Given the description of an element on the screen output the (x, y) to click on. 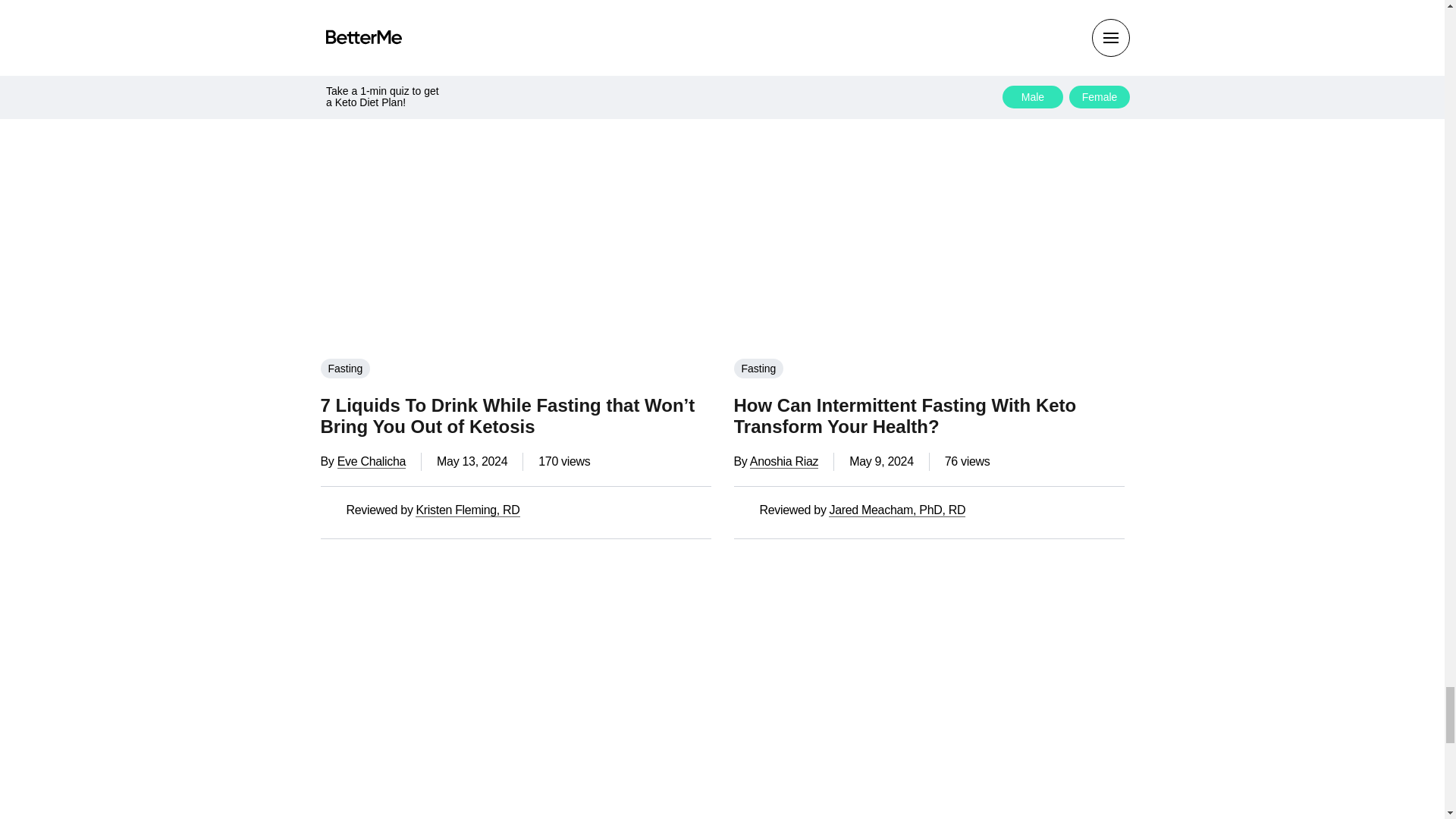
Yogurt On Keto: Which One Is Best for Your Macros? (515, 685)
